Given the description of an element on the screen output the (x, y) to click on. 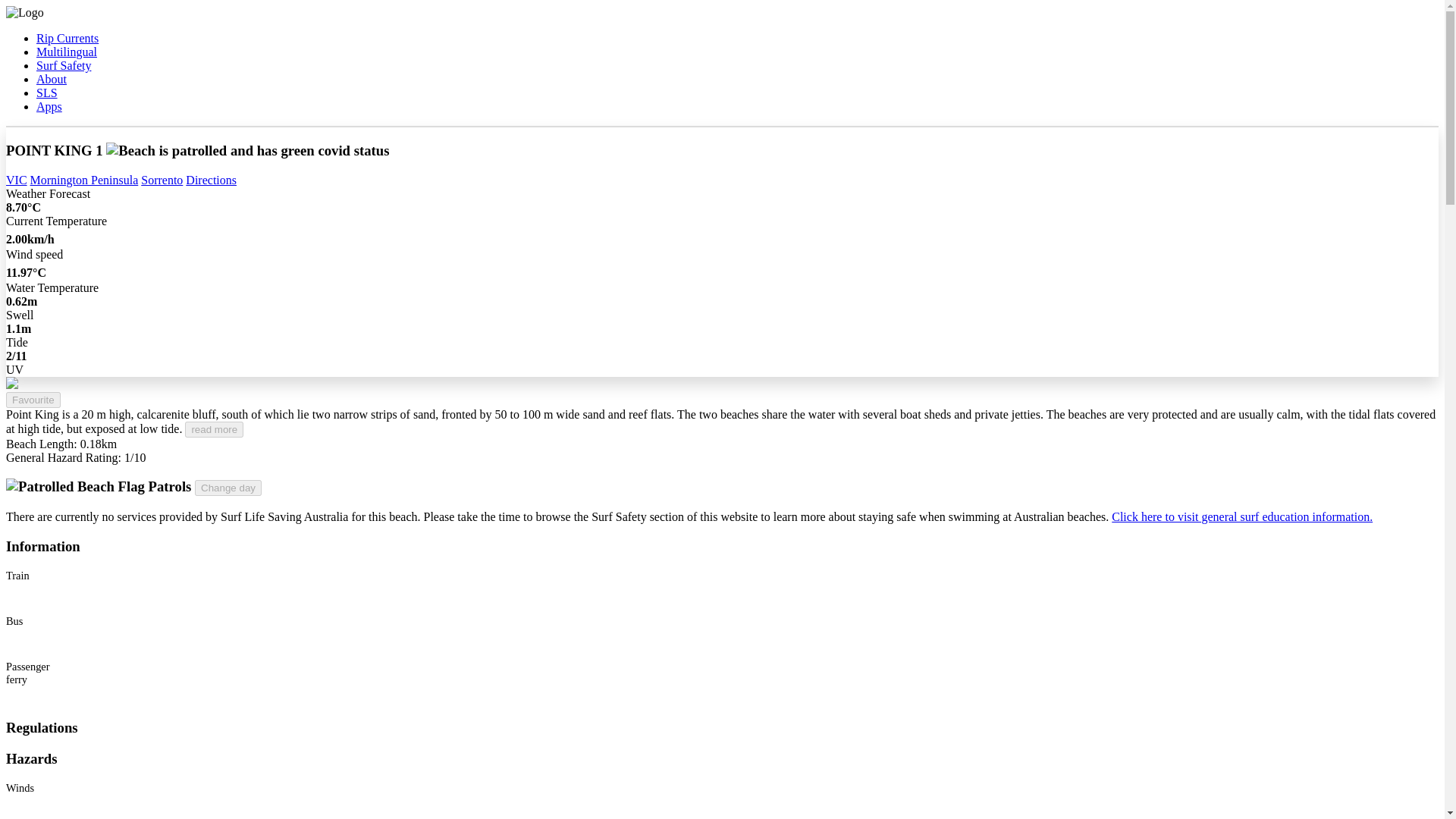
Show me direction to this beach (210, 179)
Favourite (33, 399)
read more (213, 429)
Sorrento (162, 179)
Change day (228, 487)
Surf Safety (63, 65)
Rip Currents (67, 38)
Apps (49, 106)
SLS (47, 92)
VIC (16, 179)
Click here to visit general surf education information. (1242, 516)
Multilingual (66, 51)
Mornington Peninsula (84, 179)
Directions (210, 179)
About (51, 78)
